Given the description of an element on the screen output the (x, y) to click on. 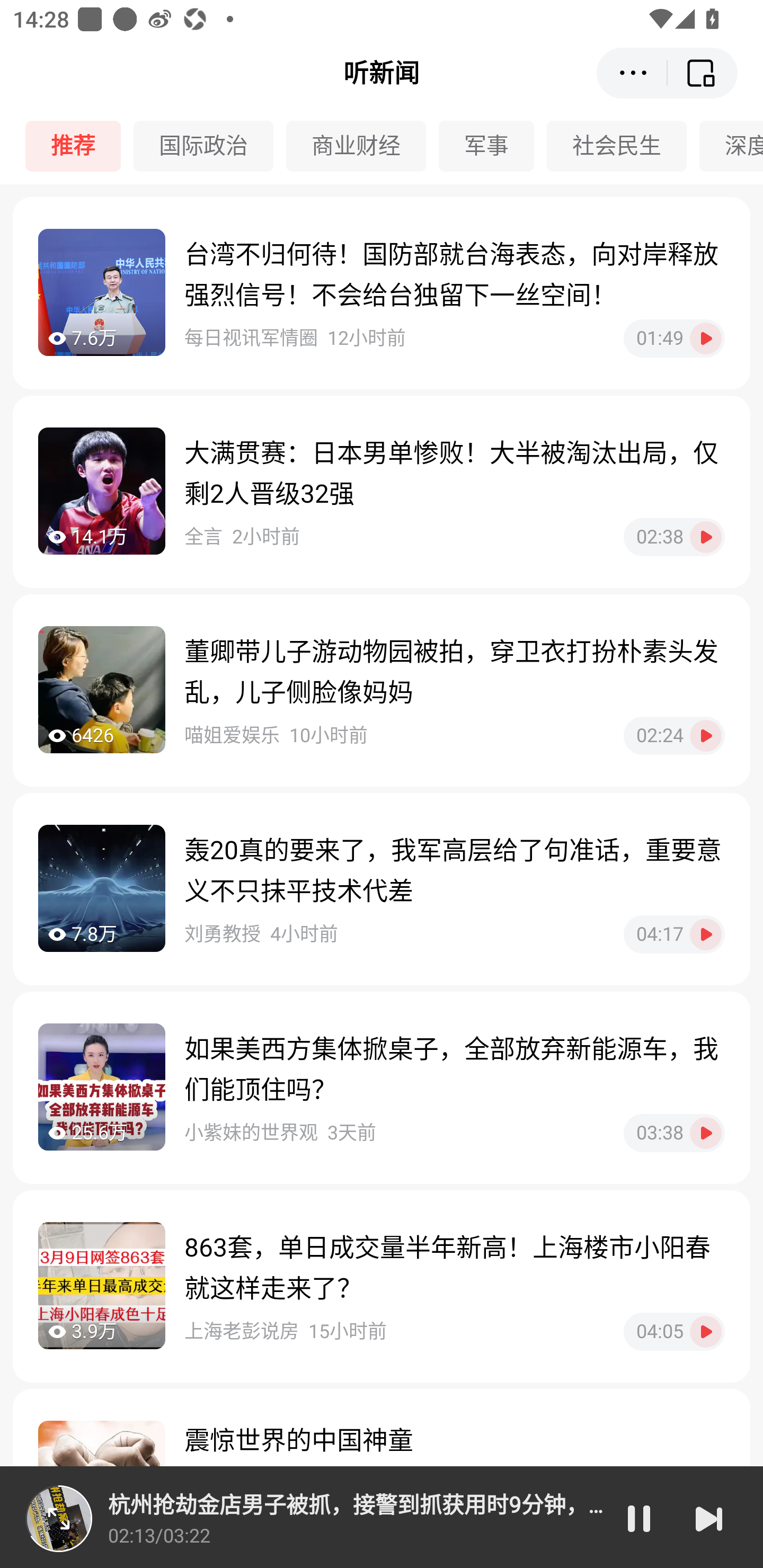
更多 (631, 72)
返回 (702, 72)
推荐 (79, 146)
国际政治 (209, 146)
商业财经 (362, 146)
军事 (492, 146)
社会民生 (623, 146)
01:49 (673, 338)
14.1万 大满贯赛：日本男单惨败！大半被淘汰出局，仅剩2人晋级32强 全言2小时前 02:38 (381, 491)
02:38 (673, 536)
02:24 (673, 735)
04:17 (673, 934)
25.6万 如果美西方集体掀桌子，全部放弃新能源车，我们能顶住吗？ 小紫妹的世界观3天前 03:38 (381, 1086)
03:38 (673, 1132)
04:05 (673, 1331)
28.4万 震惊世界的中国神童 曲艺人程磊前天 03:05 (381, 1478)
暂停 (638, 1518)
下一篇 (708, 1518)
